Given the description of an element on the screen output the (x, y) to click on. 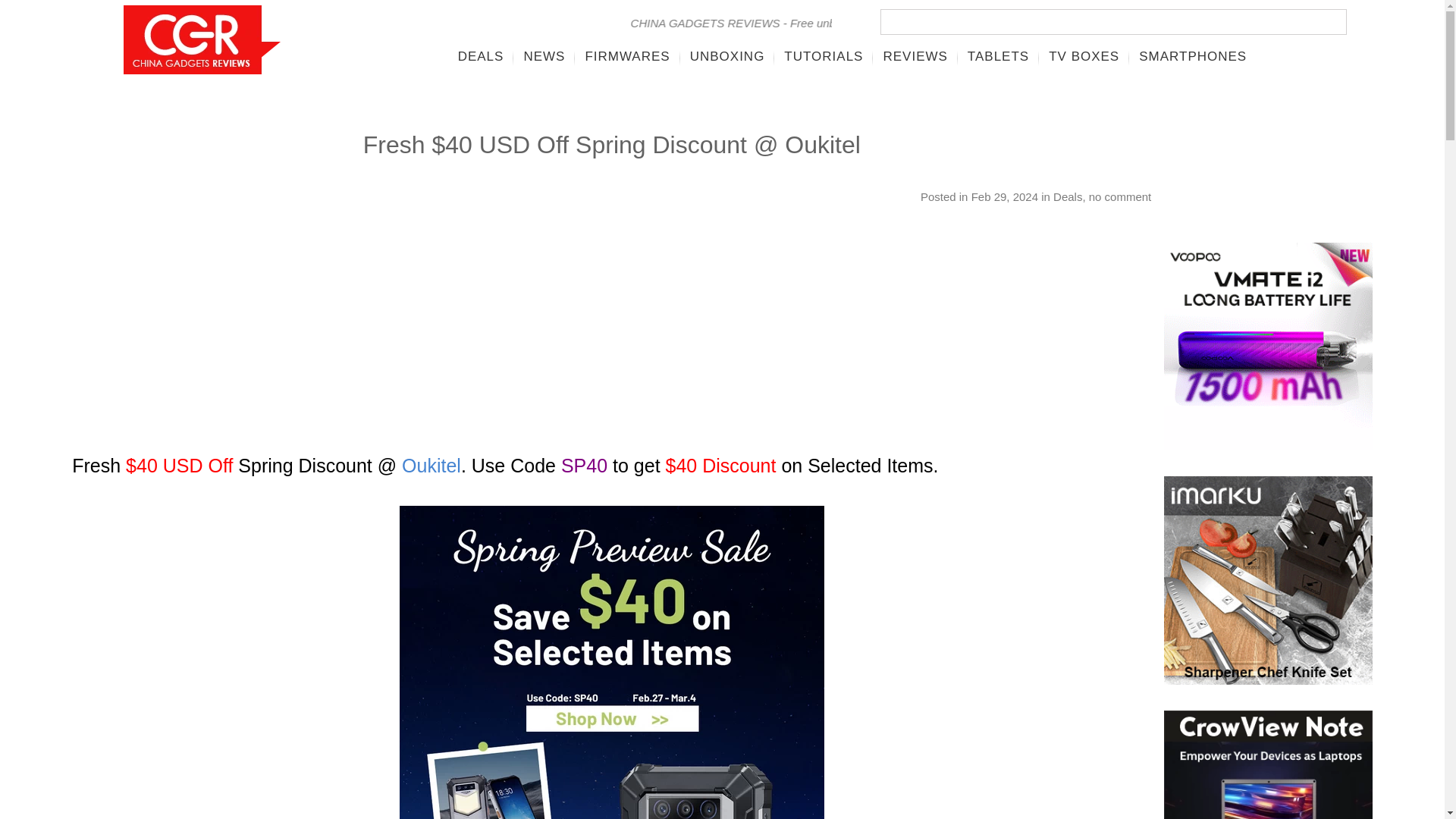
NEWS (544, 56)
SMARTPHONES (1192, 56)
TABLETS (998, 56)
Deals (1066, 196)
FIRMWARES (627, 56)
TV BOXES (1084, 56)
Oukitel (431, 465)
TUTORIALS (823, 56)
DEALS (480, 56)
